Given the description of an element on the screen output the (x, y) to click on. 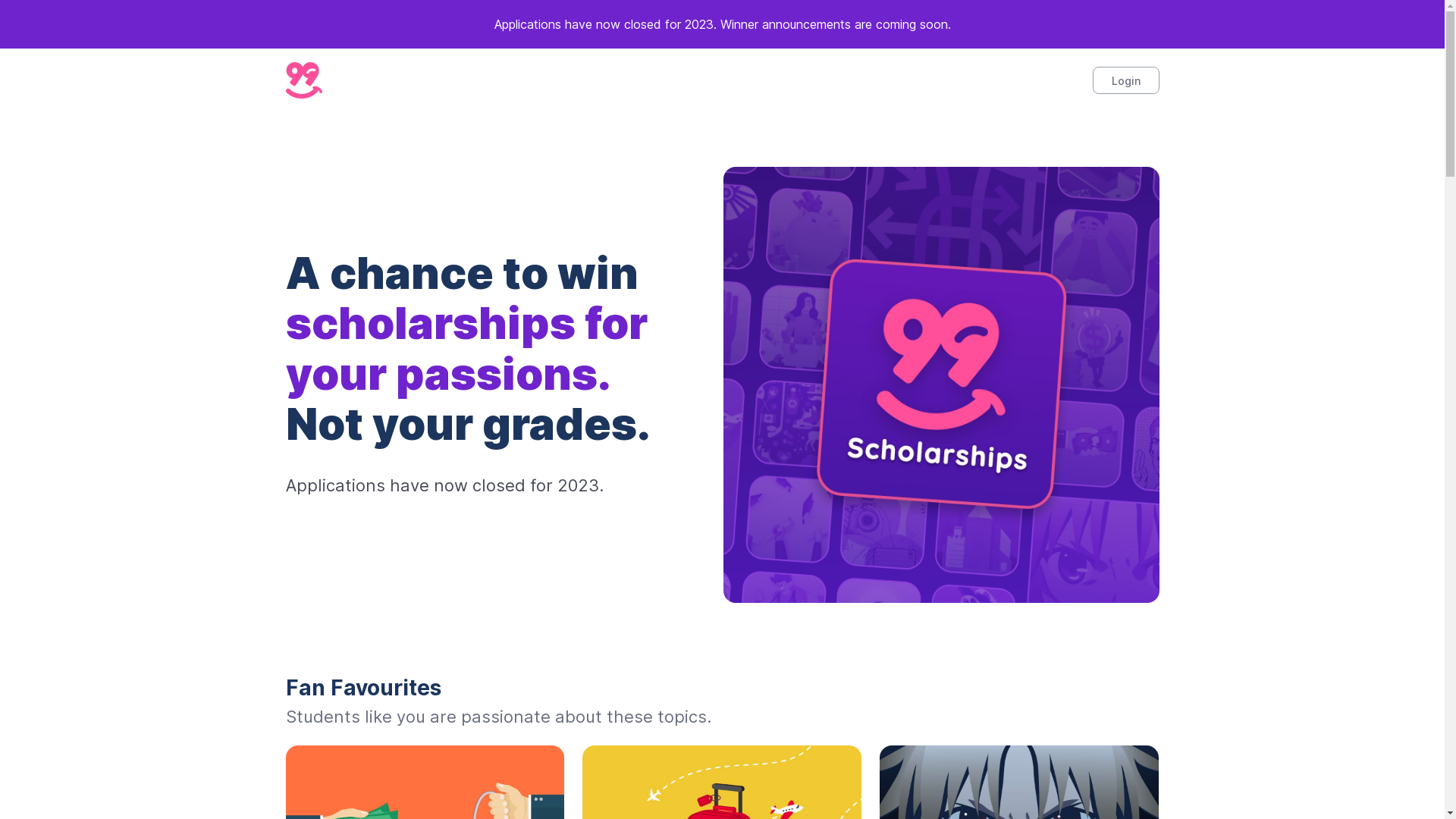
Login Element type: text (1125, 80)
